Given the description of an element on the screen output the (x, y) to click on. 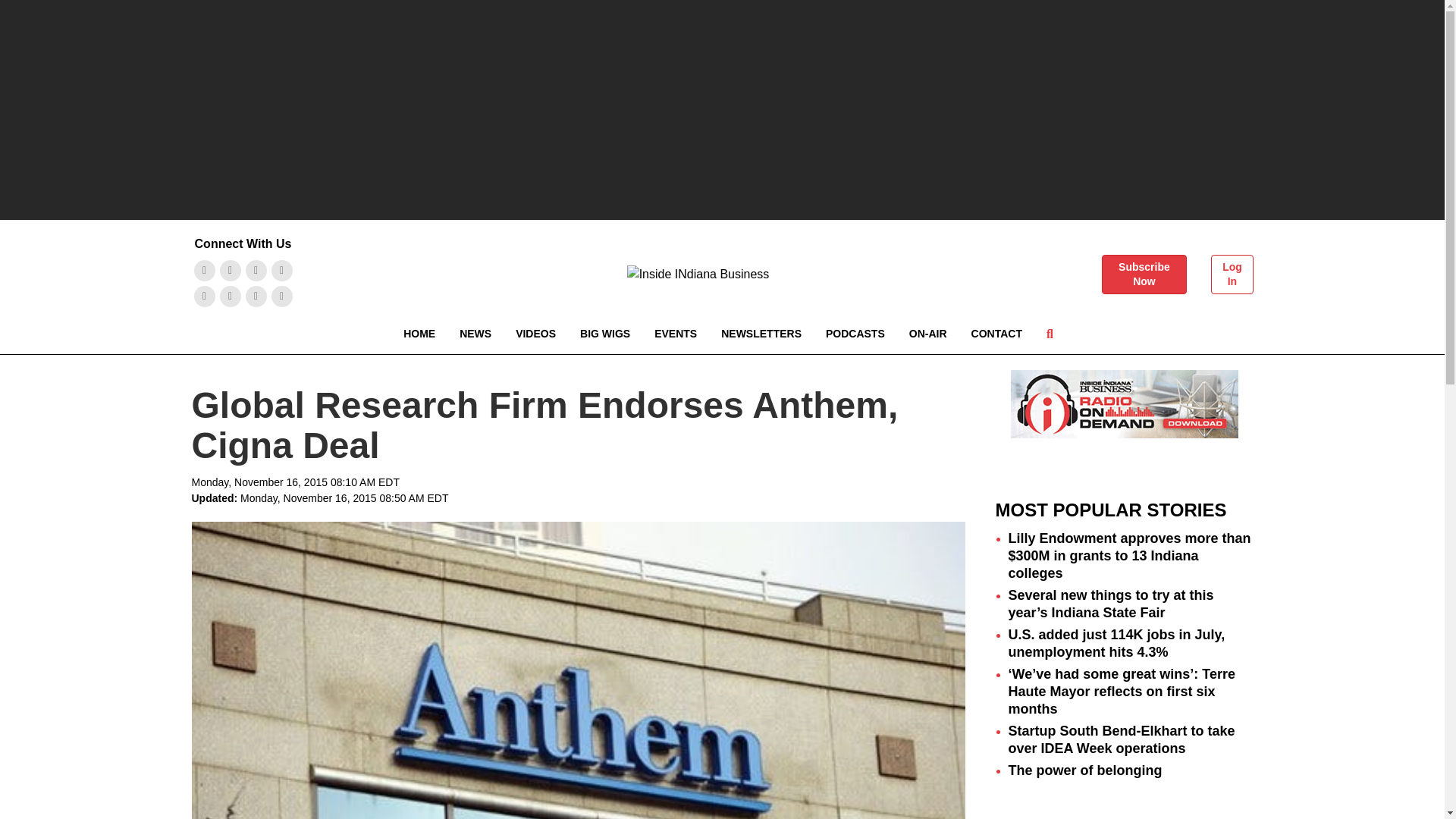
ON-AIR (927, 333)
CONTACT (996, 333)
VIDEOS (535, 333)
Log In (1231, 274)
Subscribe Now (1143, 274)
PODCASTS (854, 333)
BIG WIGS (604, 333)
NEWS (474, 333)
EVENTS (675, 333)
HOME (418, 333)
NEWSLETTERS (761, 333)
